Given the description of an element on the screen output the (x, y) to click on. 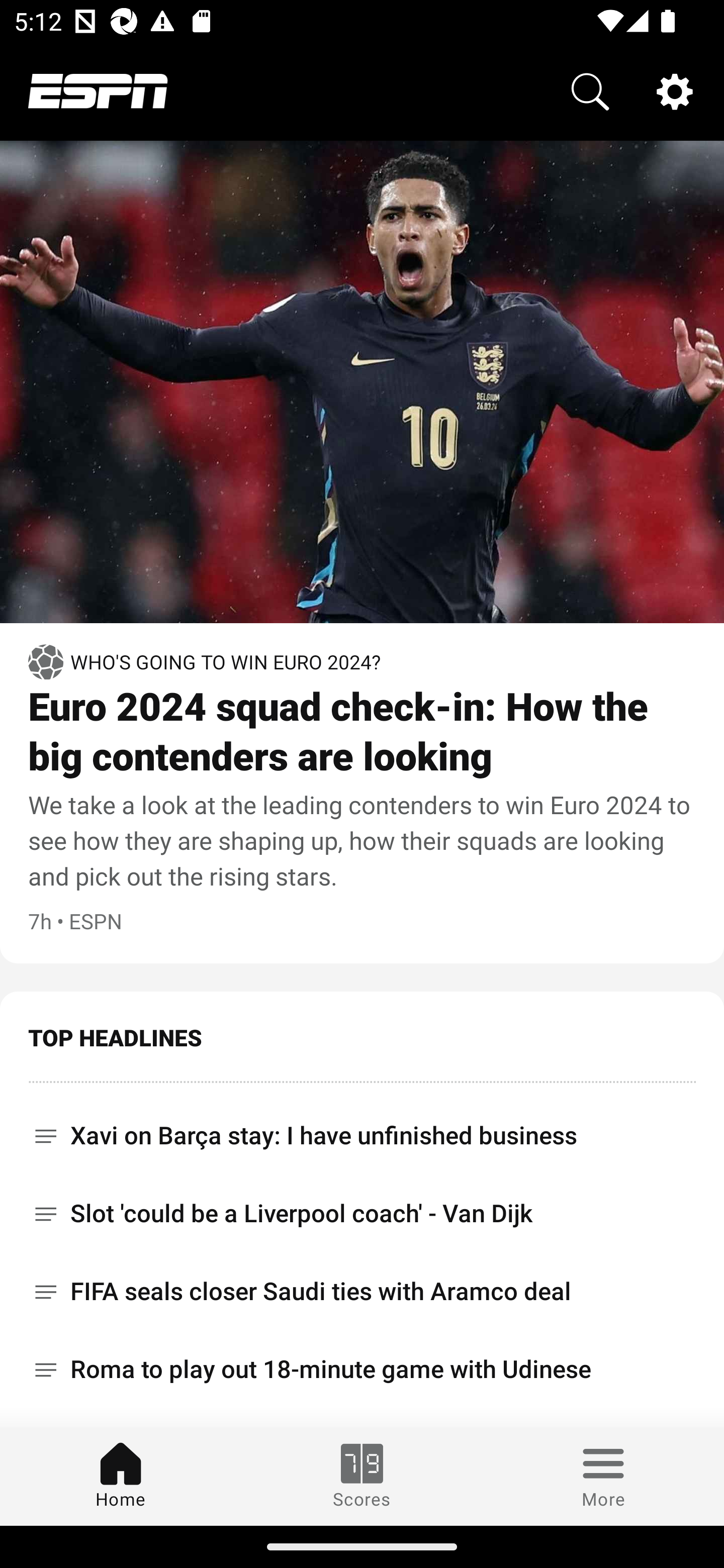
Search (590, 90)
Settings (674, 90)
 Xavi on Barça stay: I have unfinished business (362, 1128)
 Slot 'could be a Liverpool coach' - Van Dijk (362, 1213)
 FIFA seals closer Saudi ties with Aramco deal (362, 1291)
 Roma to play out 18-minute game with Udinese (362, 1369)
Scores (361, 1475)
More (603, 1475)
